Given the description of an element on the screen output the (x, y) to click on. 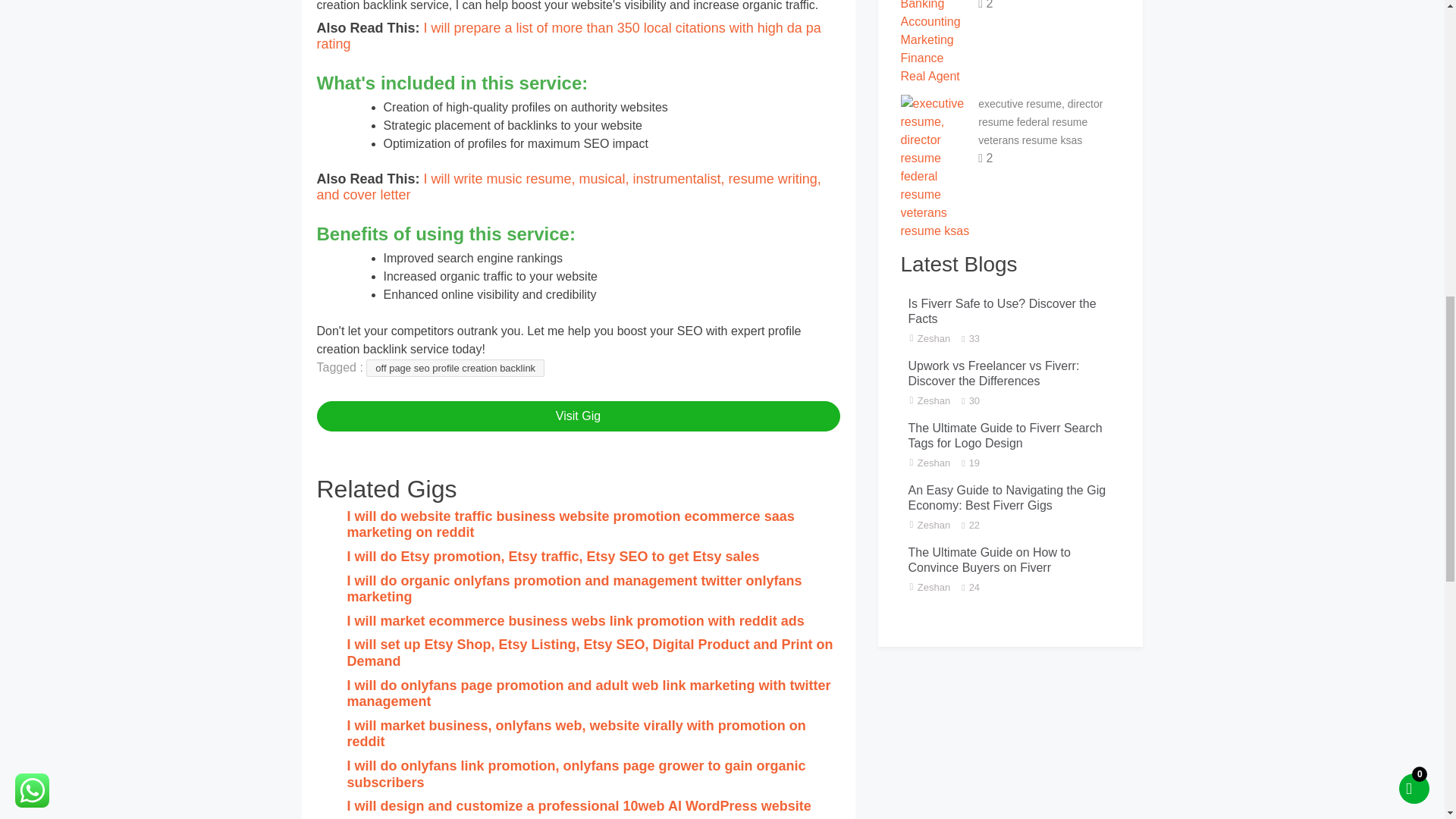
off page seo profile creation backlink (455, 367)
Visit Gig (578, 416)
